Given the description of an element on the screen output the (x, y) to click on. 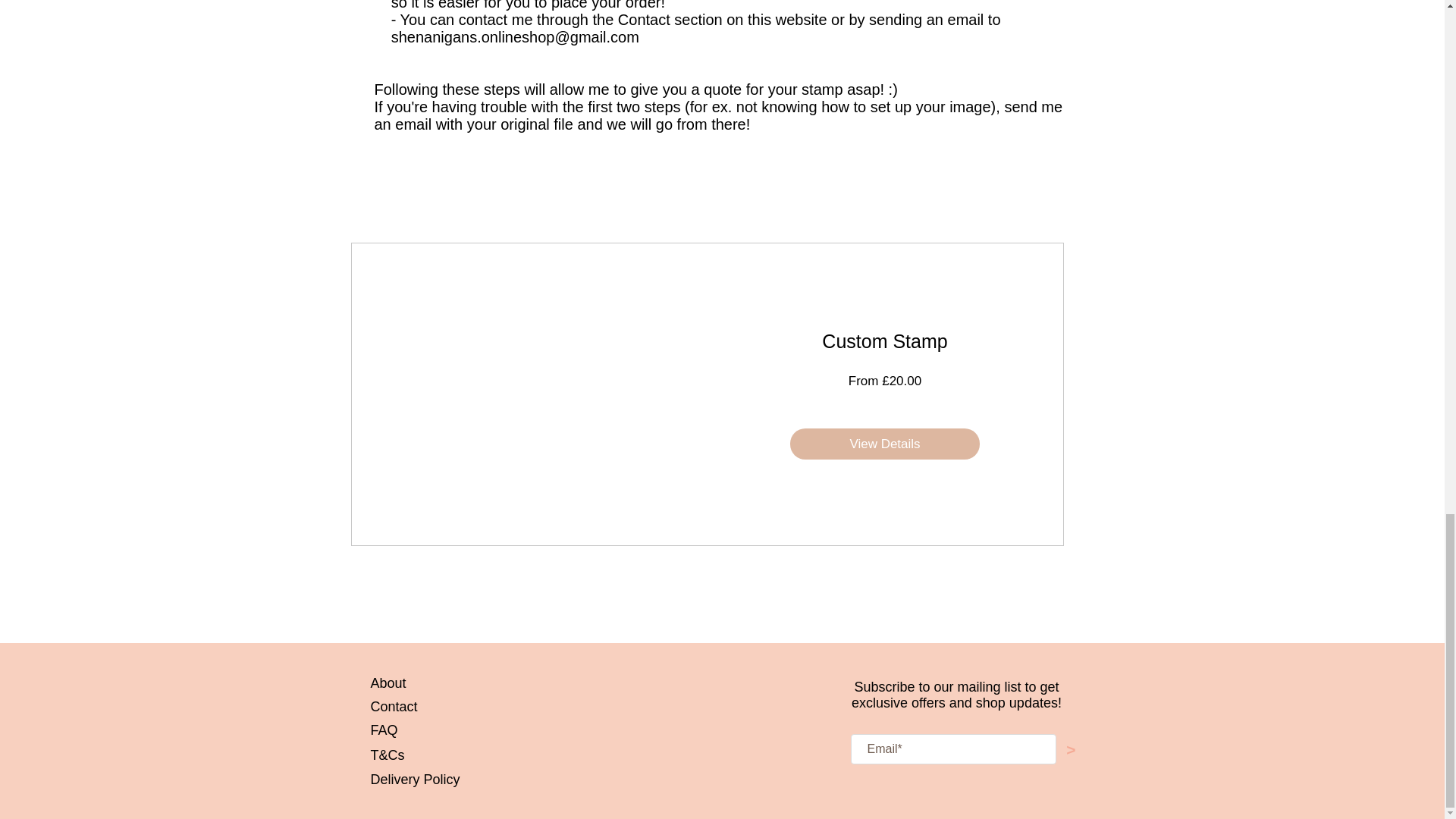
View Details (884, 444)
